Given the description of an element on the screen output the (x, y) to click on. 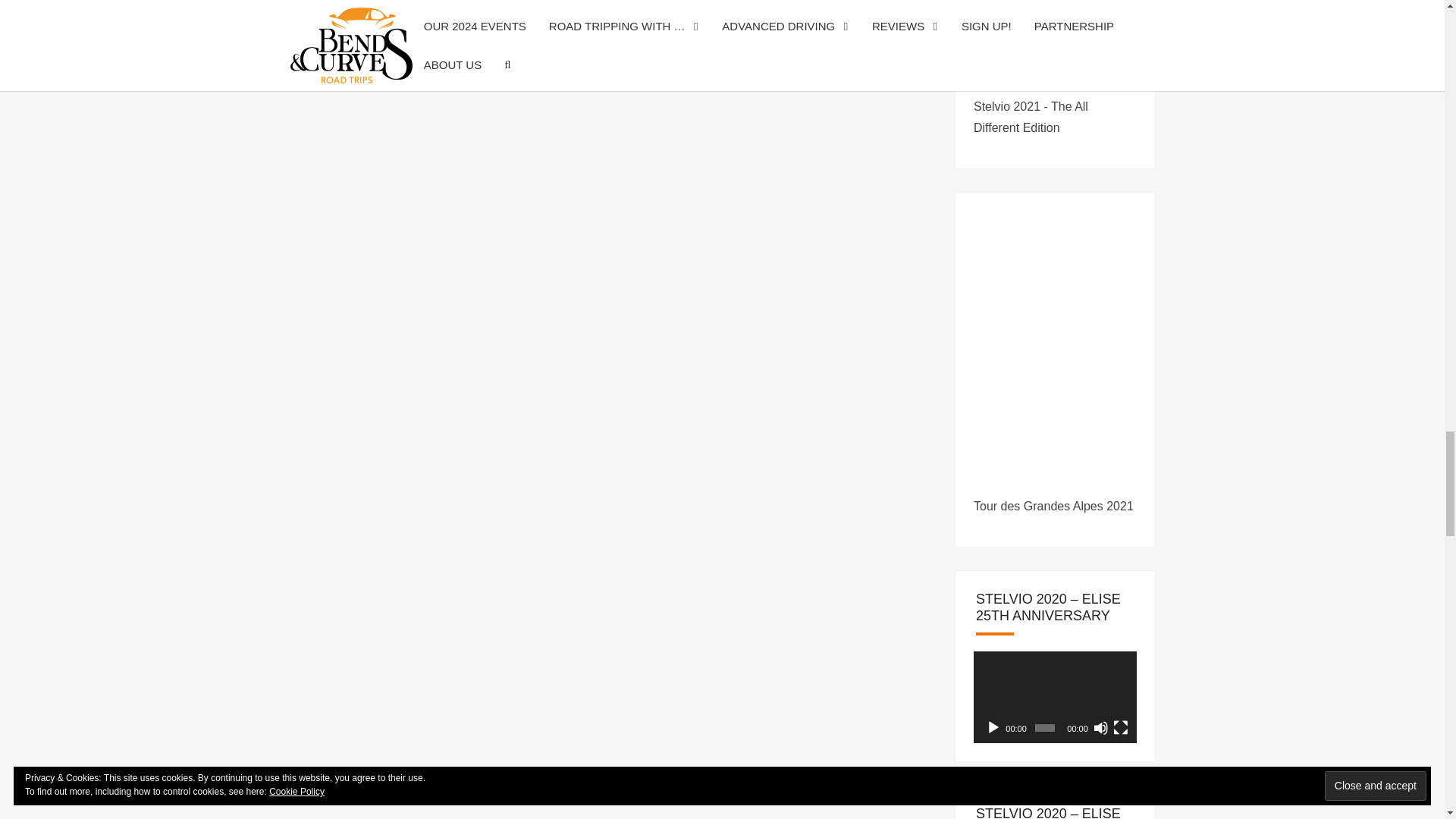
Play (993, 727)
Fullscreen (1120, 727)
Mute (1100, 727)
